Given the description of an element on the screen output the (x, y) to click on. 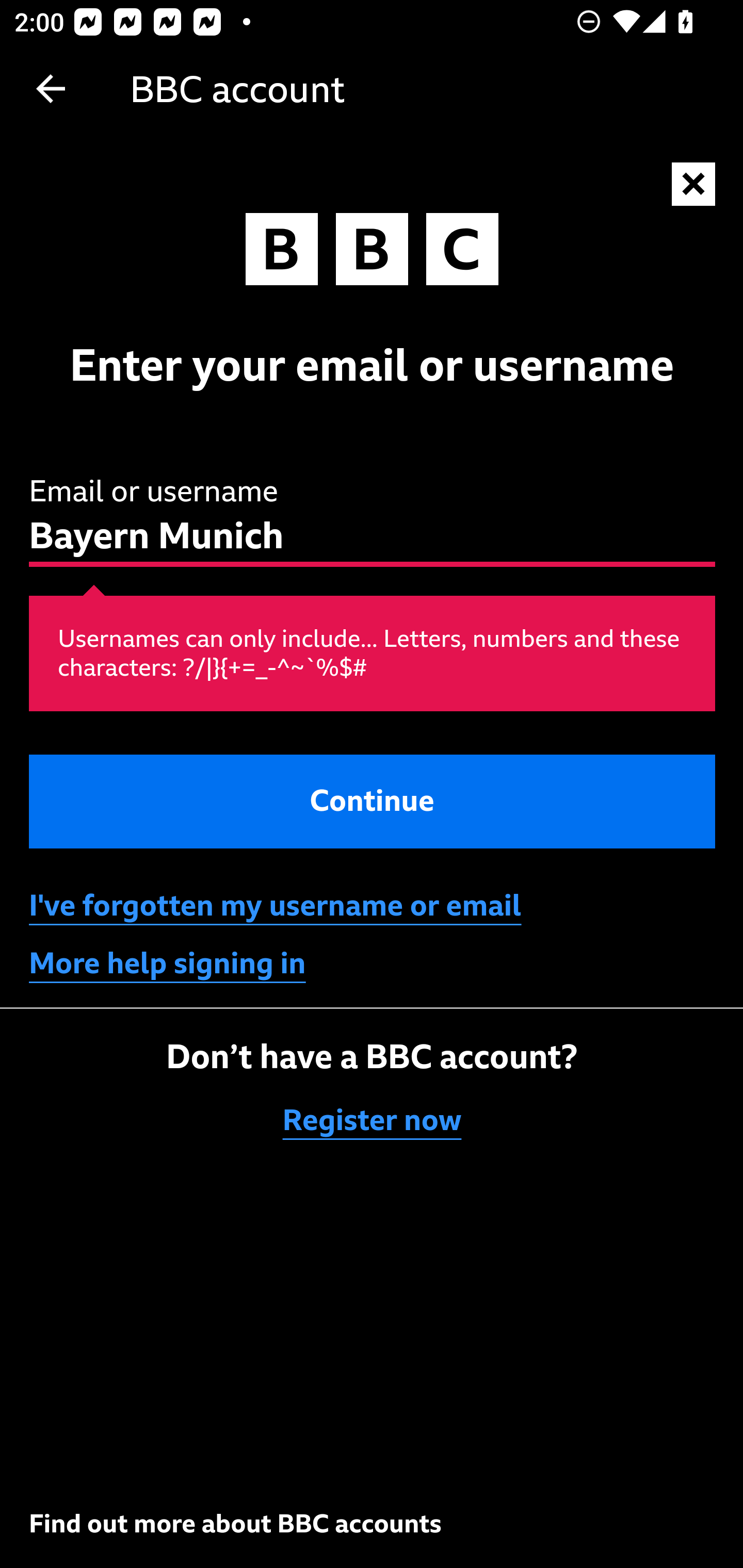
Close and return to where you originally came from (694, 184)
Go to the BBC Homepage (371, 253)
Bayern Munich (372, 520)
Continue (372, 800)
I've forgotten my username or email (274, 905)
More help signing in (167, 963)
Register now (372, 1120)
Find out more about BBC accounts (235, 1522)
